Given the description of an element on the screen output the (x, y) to click on. 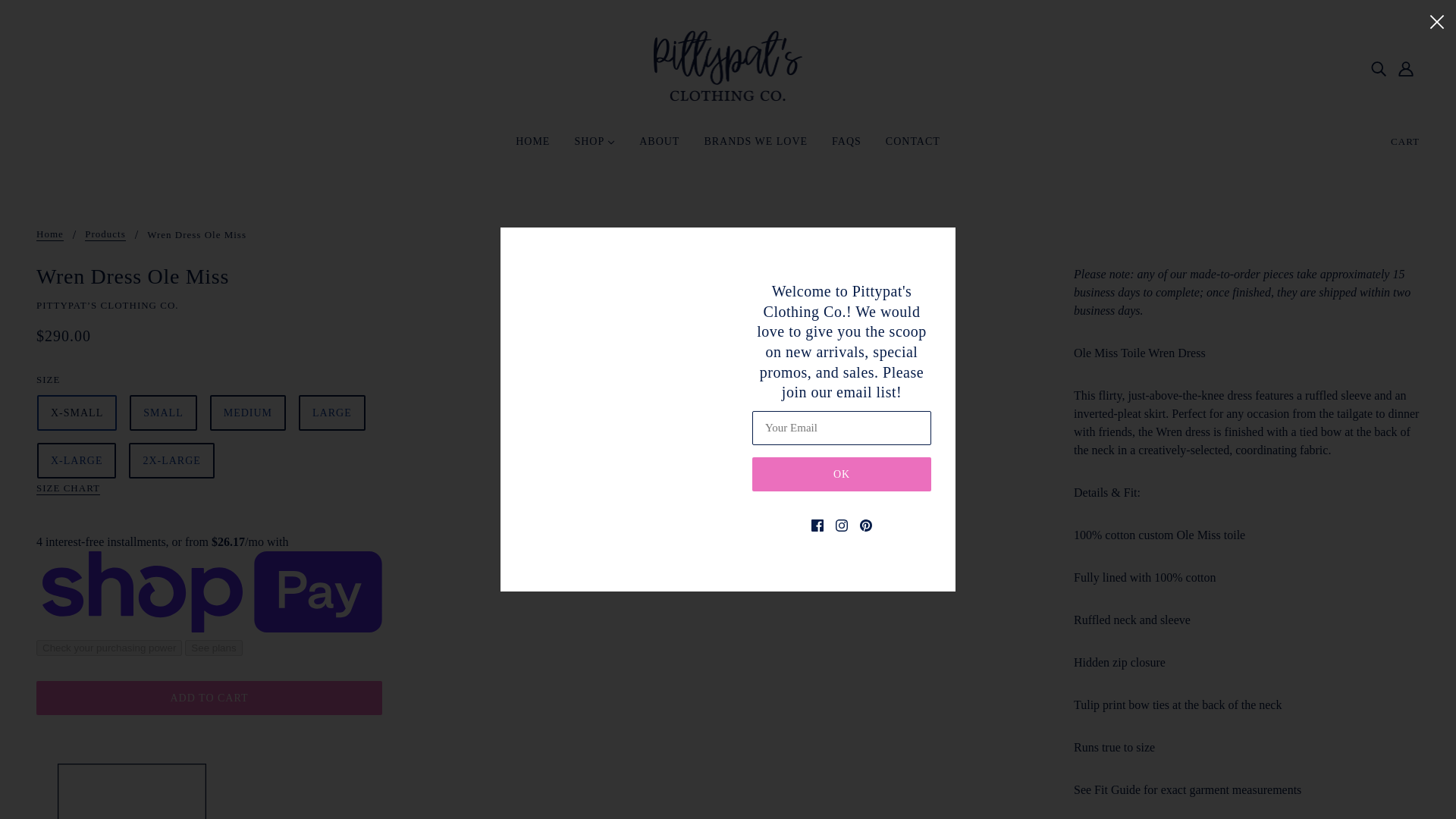
HOME (532, 147)
CART (1404, 141)
ABOUT (659, 147)
Home (50, 234)
FAQS (846, 147)
CONTACT (912, 147)
Products (104, 234)
SHOP (594, 147)
BRANDS WE LOVE (755, 147)
SIZE CHART (68, 489)
